Given the description of an element on the screen output the (x, y) to click on. 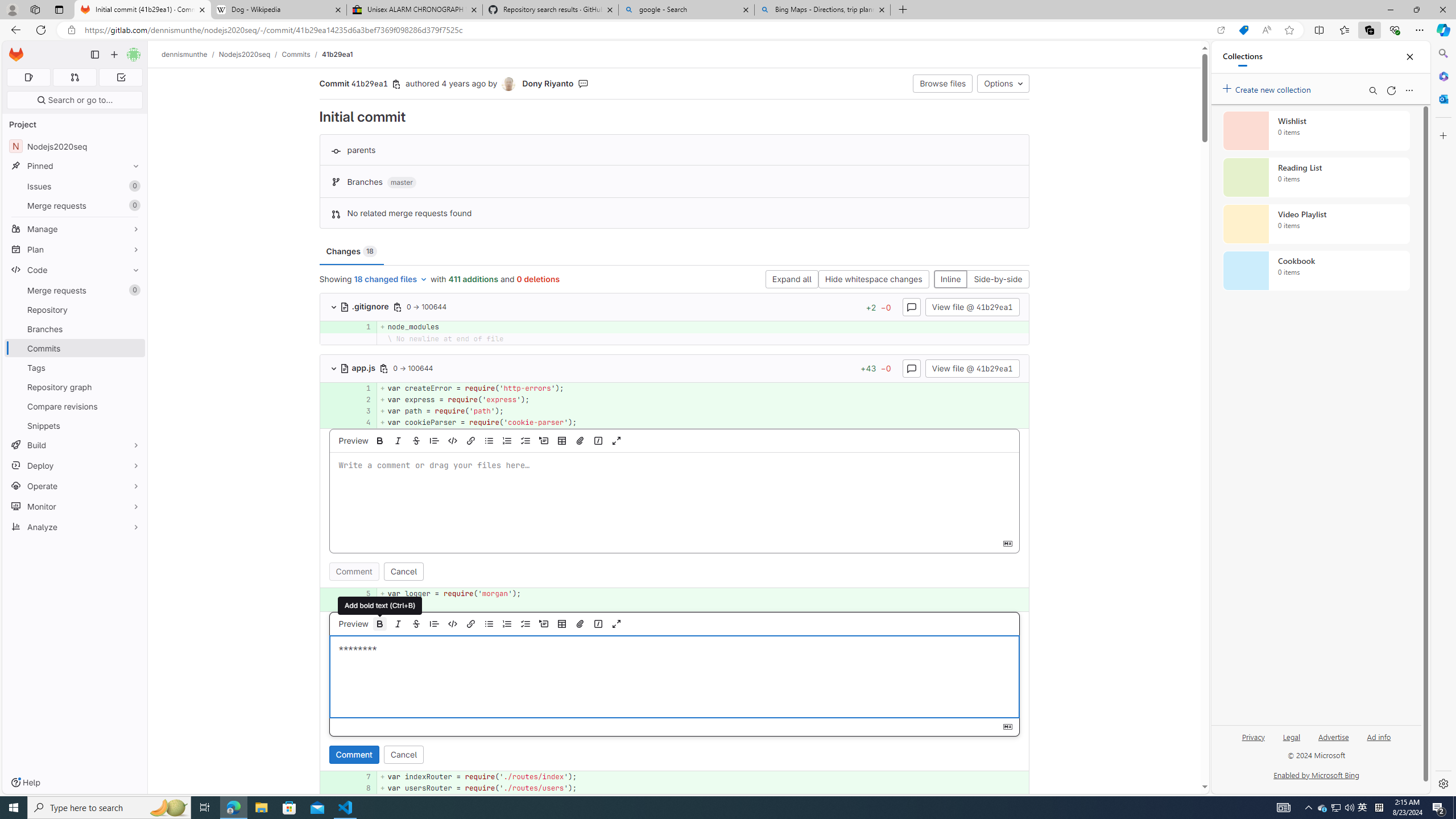
AutomationID: 4a68969ef8e858229267b842dedf42ab5dde4d50_0_8 (674, 788)
View site information (70, 29)
NNodejs2020seq (74, 145)
google - Search (685, 9)
Code (74, 269)
Add a comment to this line  (333, 788)
Add a numbered list (506, 623)
Insert code (452, 623)
1 (360, 387)
Attach a file or image (579, 623)
Insert a quote (434, 623)
Pin Repository (132, 309)
Manage (74, 228)
